Given the description of an element on the screen output the (x, y) to click on. 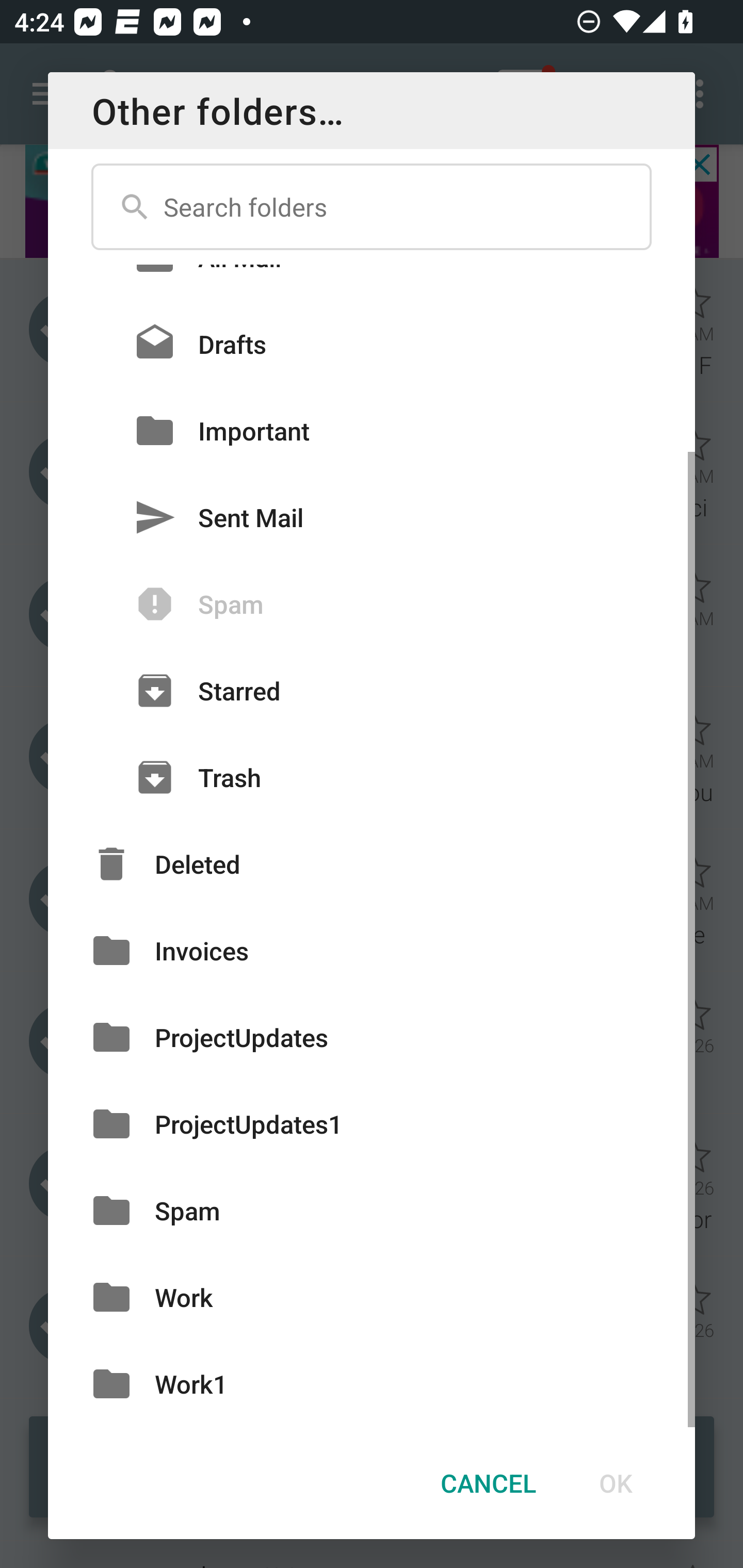
Drafts (371, 344)
Important (371, 430)
Sent Mail (371, 517)
Starred (371, 690)
Trash (371, 776)
Deleted (371, 863)
Invoices (371, 950)
ProjectUpdates (371, 1037)
ProjectUpdates1 (371, 1123)
Spam (371, 1210)
Work (371, 1297)
Work1 (371, 1383)
CANCEL (488, 1482)
OK (615, 1482)
